Given the description of an element on the screen output the (x, y) to click on. 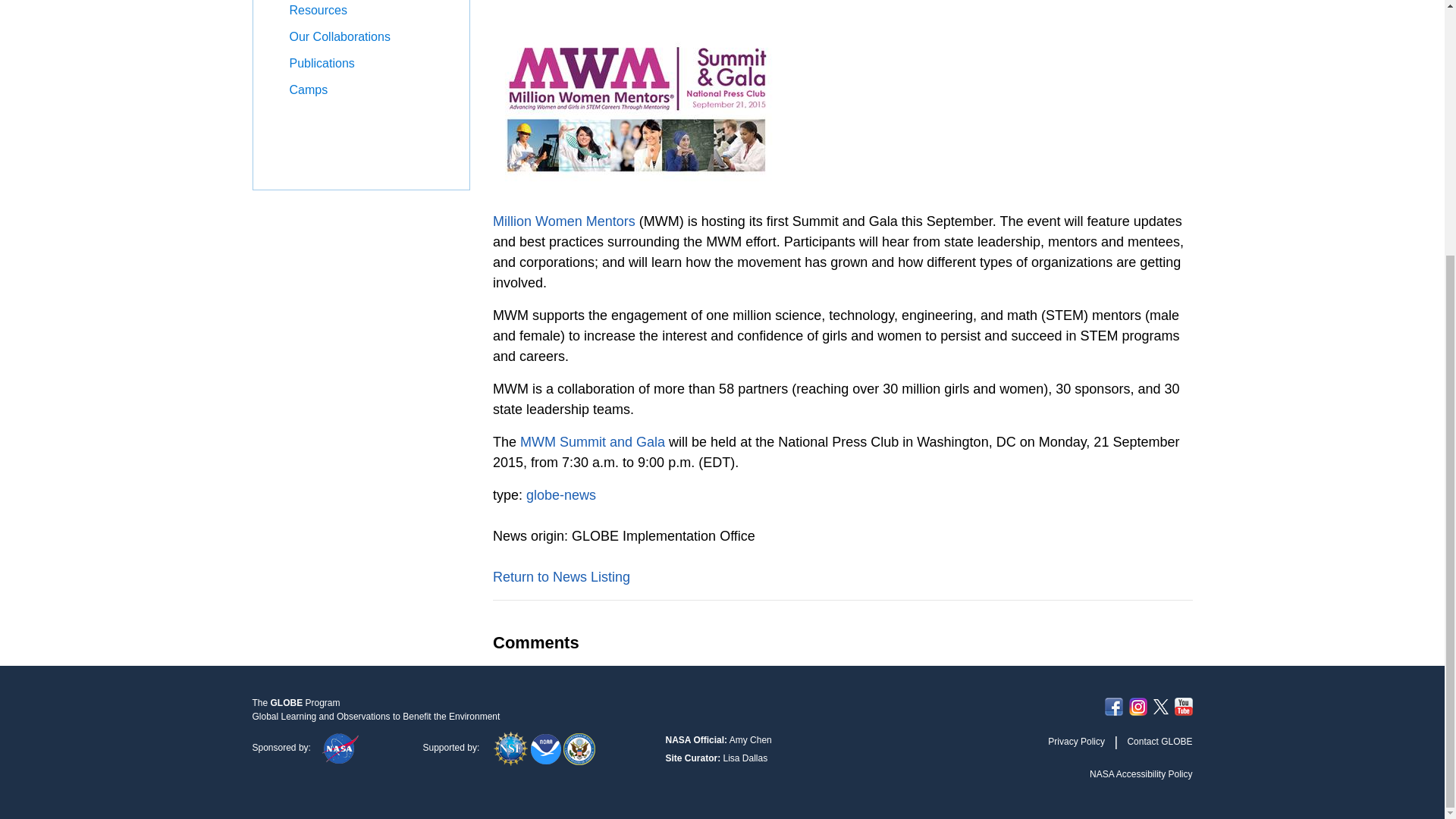
National Aeronautics and Space Administration (339, 747)
National Science Foundation (512, 747)
U.S. Department of State (579, 747)
National Oceanic and Atmospheric Administration (547, 747)
